Given the description of an element on the screen output the (x, y) to click on. 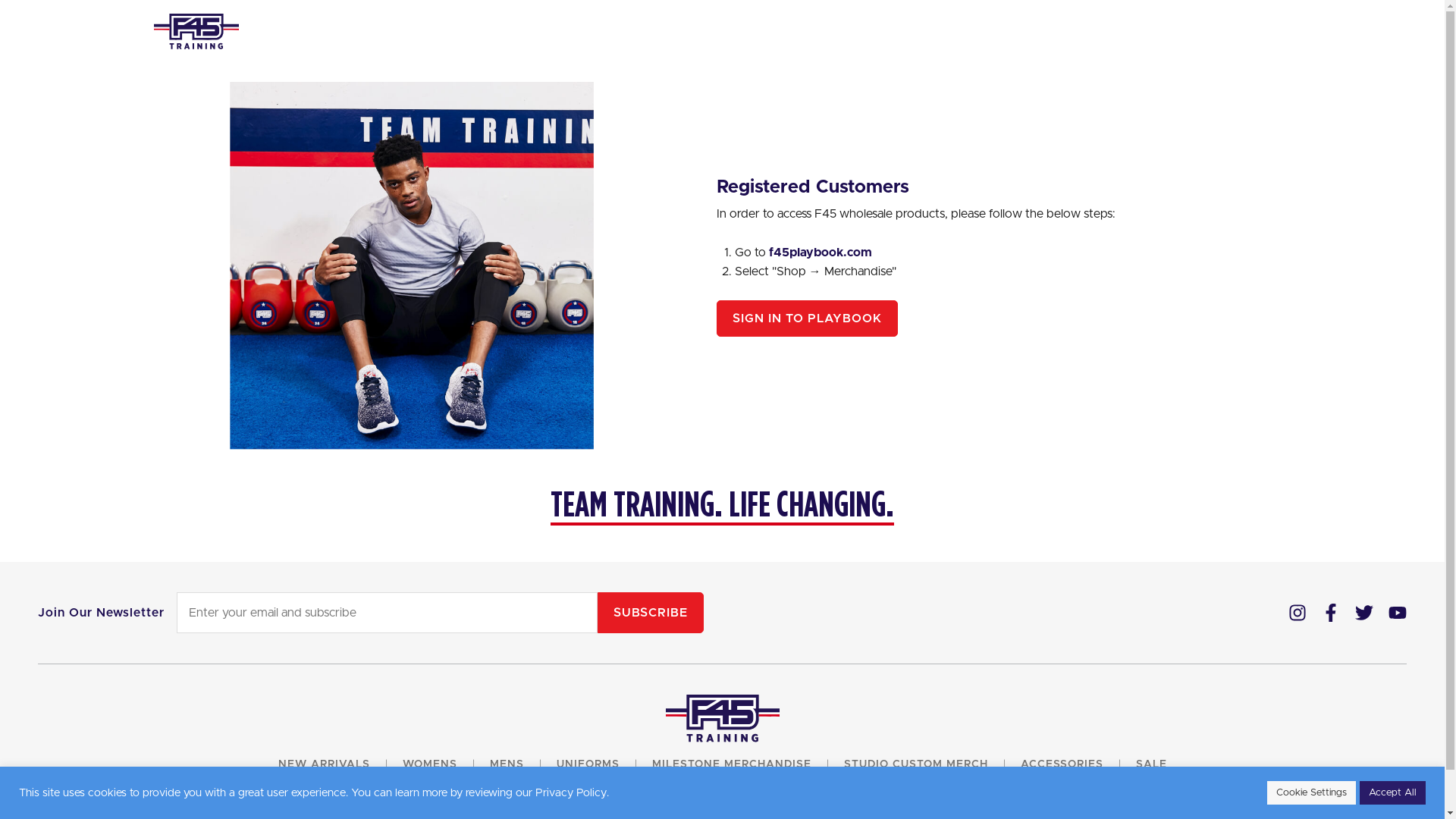
STUDIO CUSTOM MERCH Element type: text (915, 764)
NEW ARRIVALS Element type: text (323, 764)
WOMENS Element type: text (428, 764)
SALE Element type: text (1151, 764)
My Account Element type: hover (411, 265)
Privacy Policy Element type: text (570, 792)
ACCESSORIES Element type: text (1061, 764)
Cookie Settings Element type: text (1311, 792)
MENS Element type: text (506, 764)
Accept All Element type: text (1392, 792)
UNIFORMS Element type: text (587, 764)
f45playbook.com Element type: text (820, 252)
SUBSCRIBE Element type: text (650, 612)
SIGN IN TO PLAYBOOK Element type: text (806, 318)
MILESTONE MERCHANDISE Element type: text (731, 764)
